Given the description of an element on the screen output the (x, y) to click on. 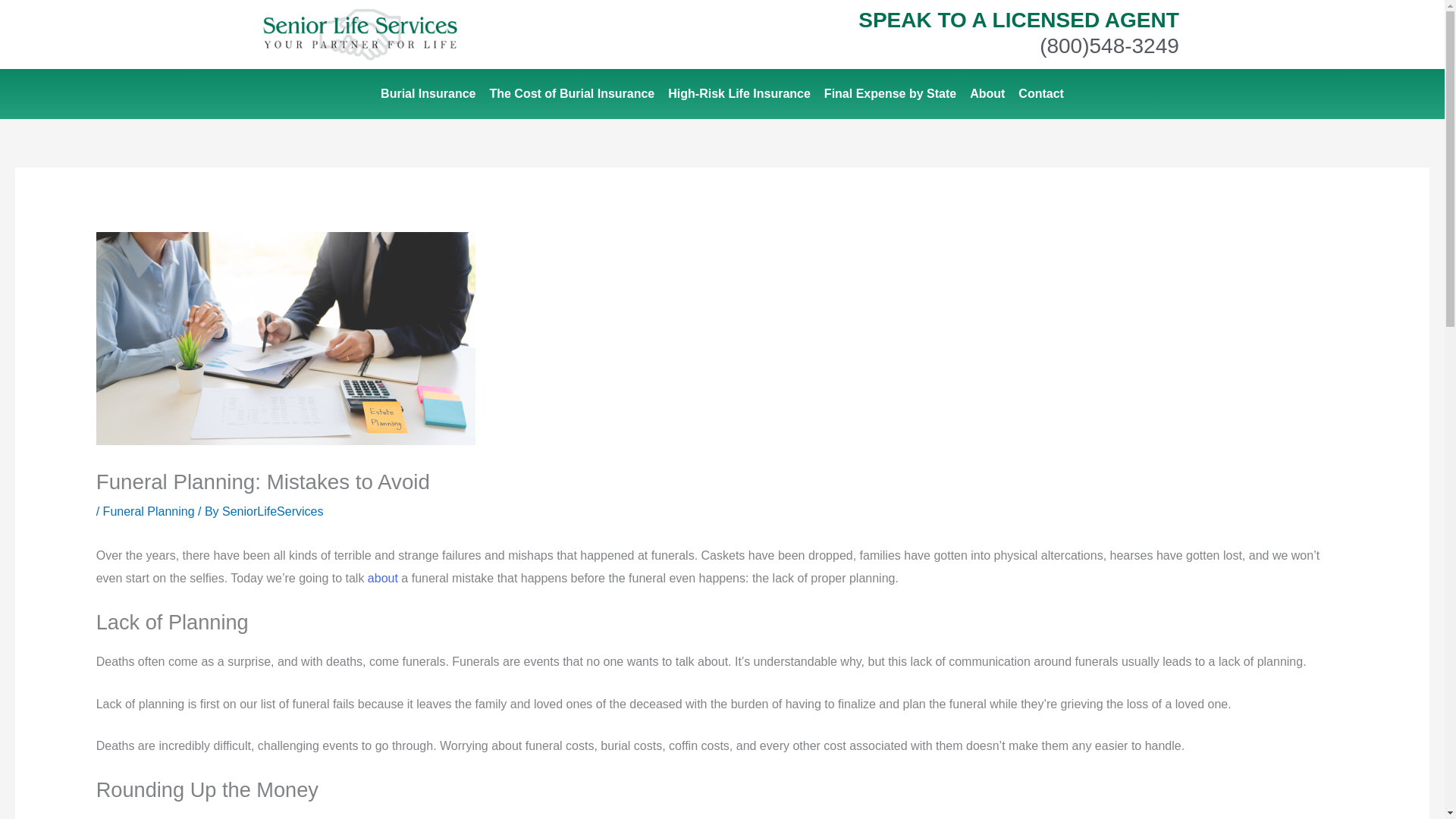
Final Expense by State (889, 93)
High-Risk Life Insurance (738, 93)
Burial Insurance (427, 93)
View all posts by SeniorLifeServices (272, 511)
The Cost of Burial Insurance (571, 93)
